Given the description of an element on the screen output the (x, y) to click on. 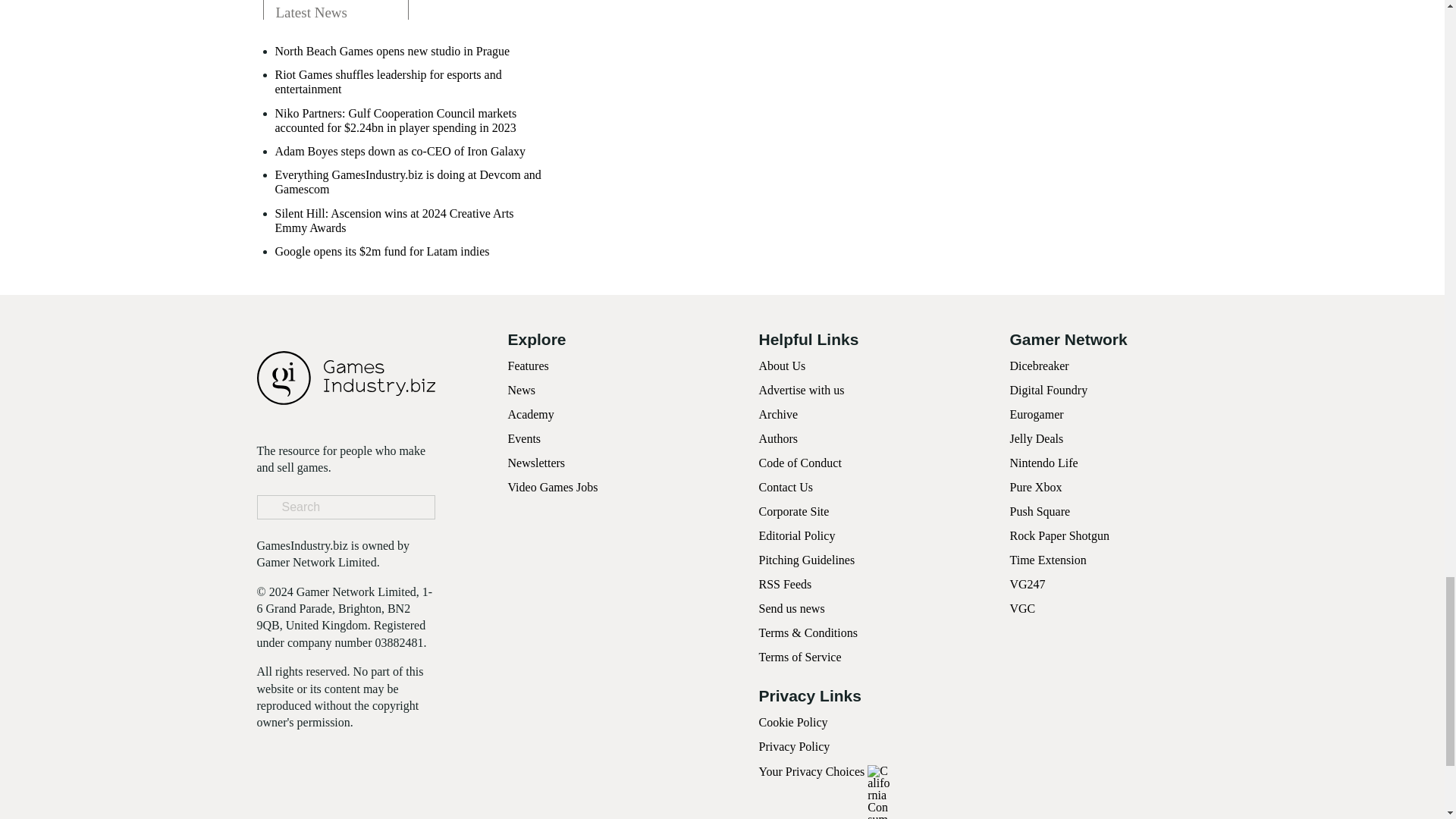
Events (524, 438)
Archive (777, 413)
Features (528, 365)
Academy (531, 413)
About Us (781, 365)
News (521, 390)
North Beach Games opens new studio in Prague (392, 51)
Video Games Jobs (553, 486)
Everything GamesIndustry.biz is doing at Devcom and Gamescom (409, 181)
